Given the description of an element on the screen output the (x, y) to click on. 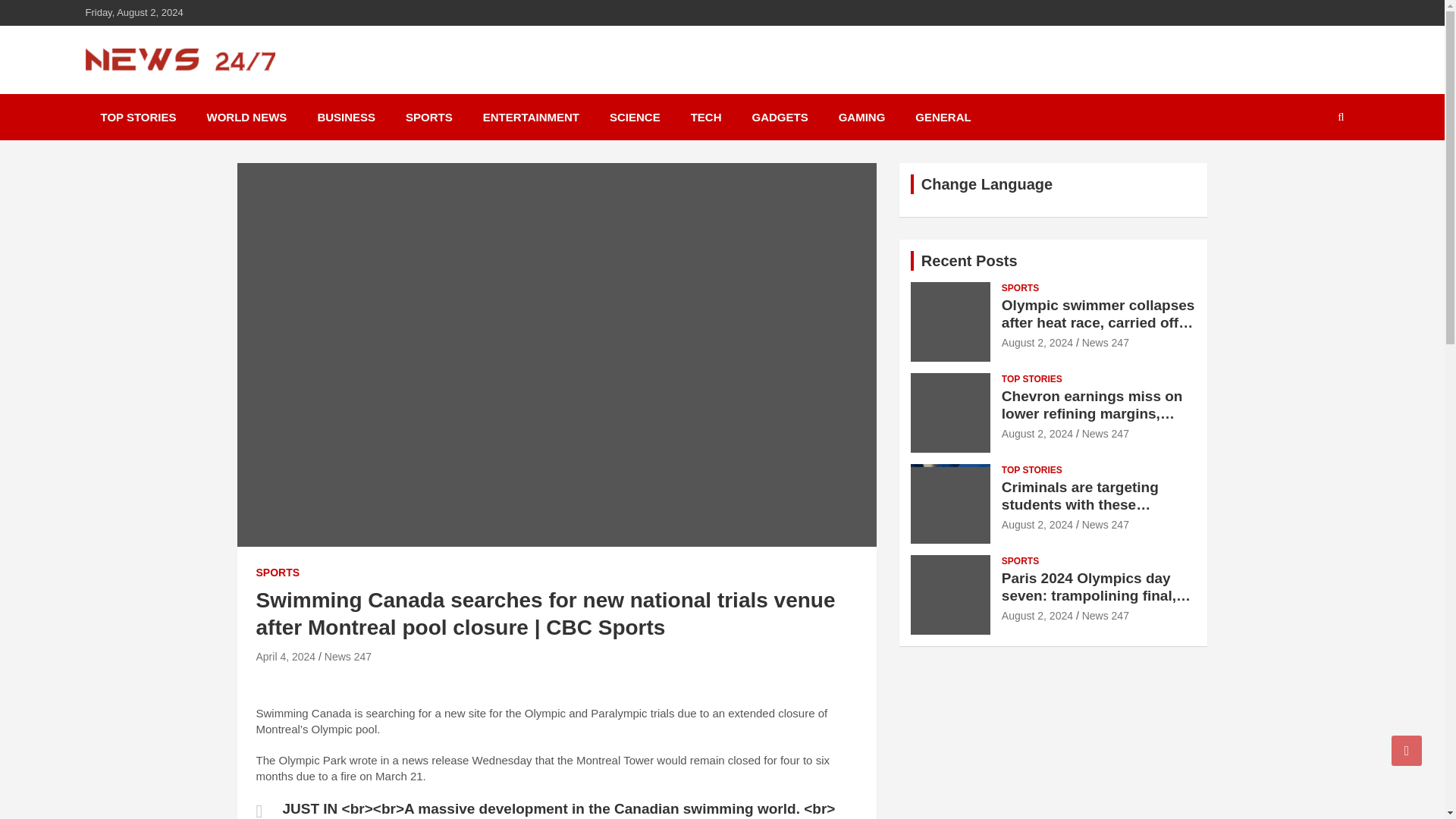
WORLD NEWS (247, 117)
TOP STORIES (137, 117)
Go to Top (1406, 750)
SPORTS (277, 572)
News 247 (347, 656)
August 2, 2024 (1037, 342)
GENERAL (942, 117)
GAMING (862, 117)
News 247 (1105, 342)
ENTERTAINMENT (530, 117)
SCIENCE (634, 117)
Recent Posts (969, 260)
BUSINESS (345, 117)
SPORTS (1020, 287)
